Given the description of an element on the screen output the (x, y) to click on. 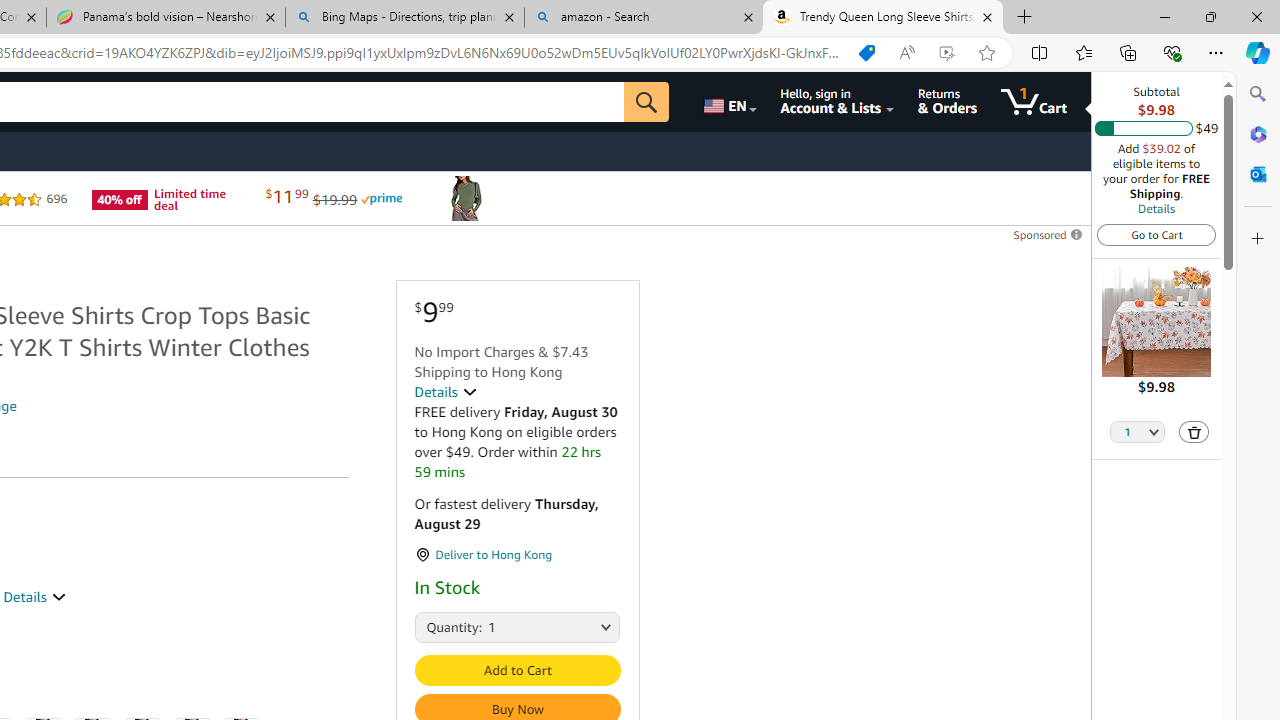
Details (1156, 208)
Delete (1194, 431)
Choose a language for shopping. (728, 101)
Quantity Selector (1137, 433)
